Given the description of an element on the screen output the (x, y) to click on. 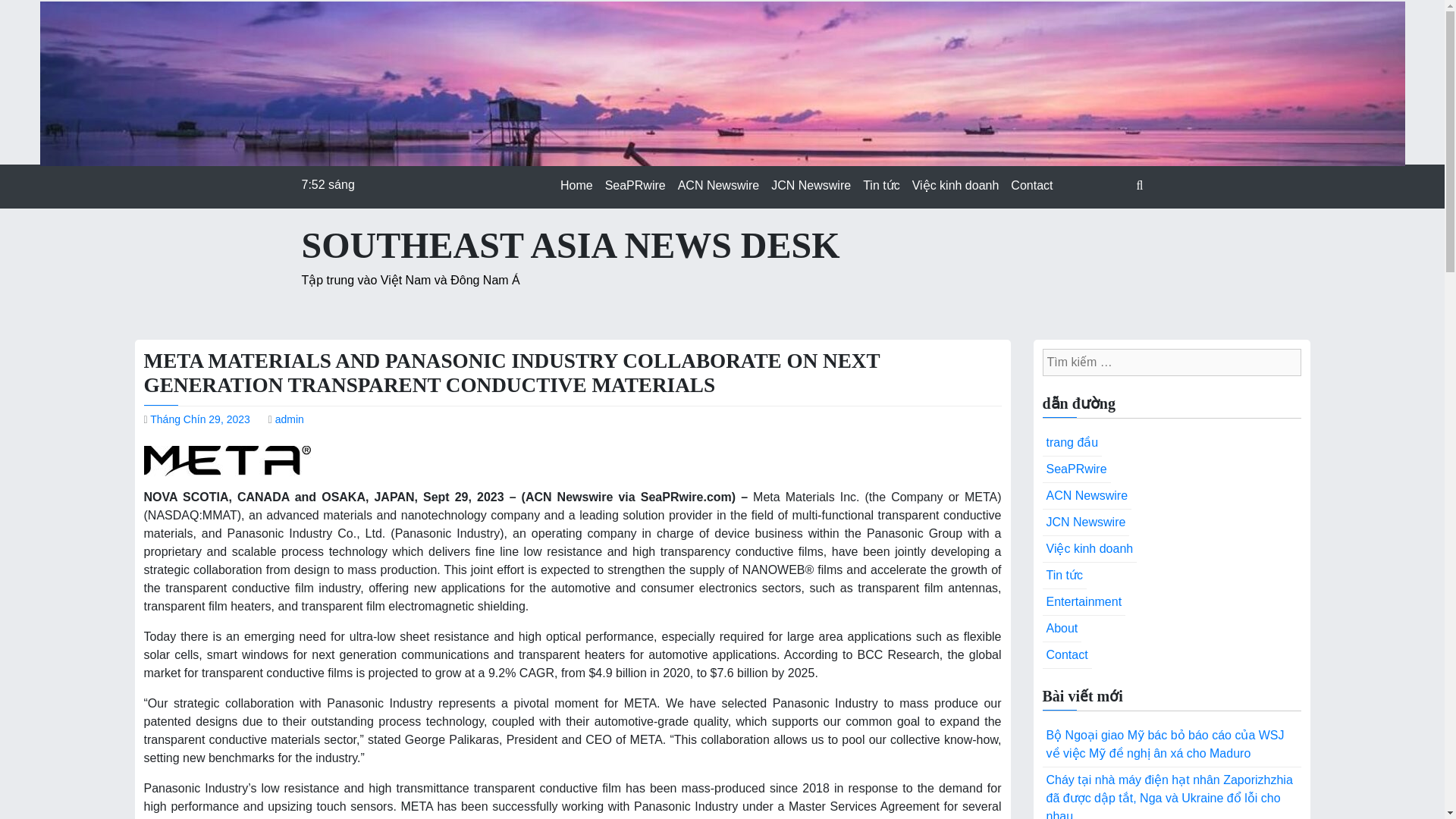
Contact (1031, 185)
ACN Newswire (718, 185)
ACN Newswire (1086, 496)
Contact (1066, 655)
SeaPRwire (634, 185)
About (1061, 628)
Entertainment (1083, 601)
SeaPRwire (1075, 469)
admin (289, 419)
JCN Newswire (811, 185)
